Given the description of an element on the screen output the (x, y) to click on. 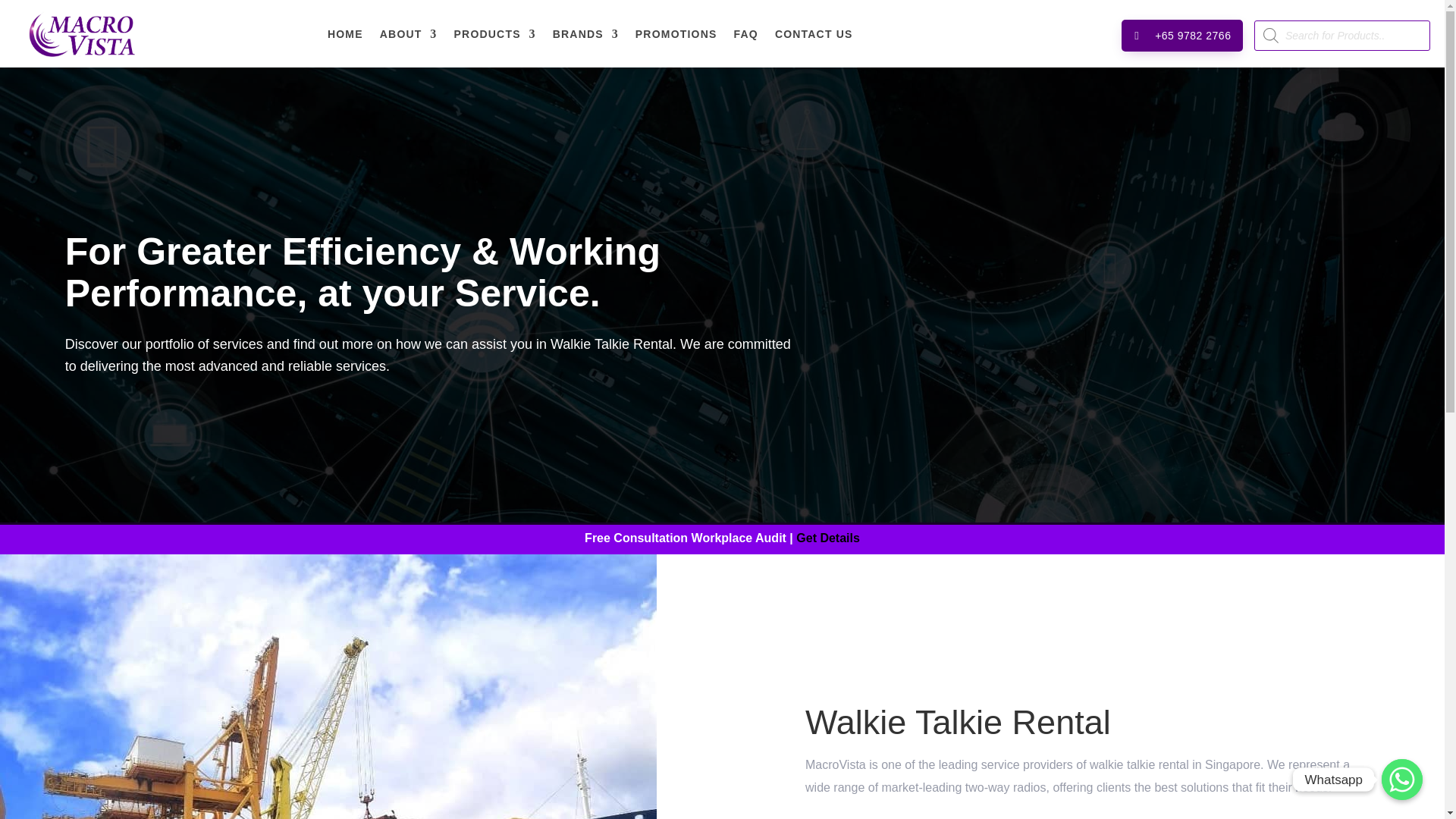
BRANDS (585, 33)
ABOUT (409, 33)
PRODUCTS (494, 33)
HOME (344, 33)
PROMOTIONS (675, 33)
FAQ (745, 33)
